Given the description of an element on the screen output the (x, y) to click on. 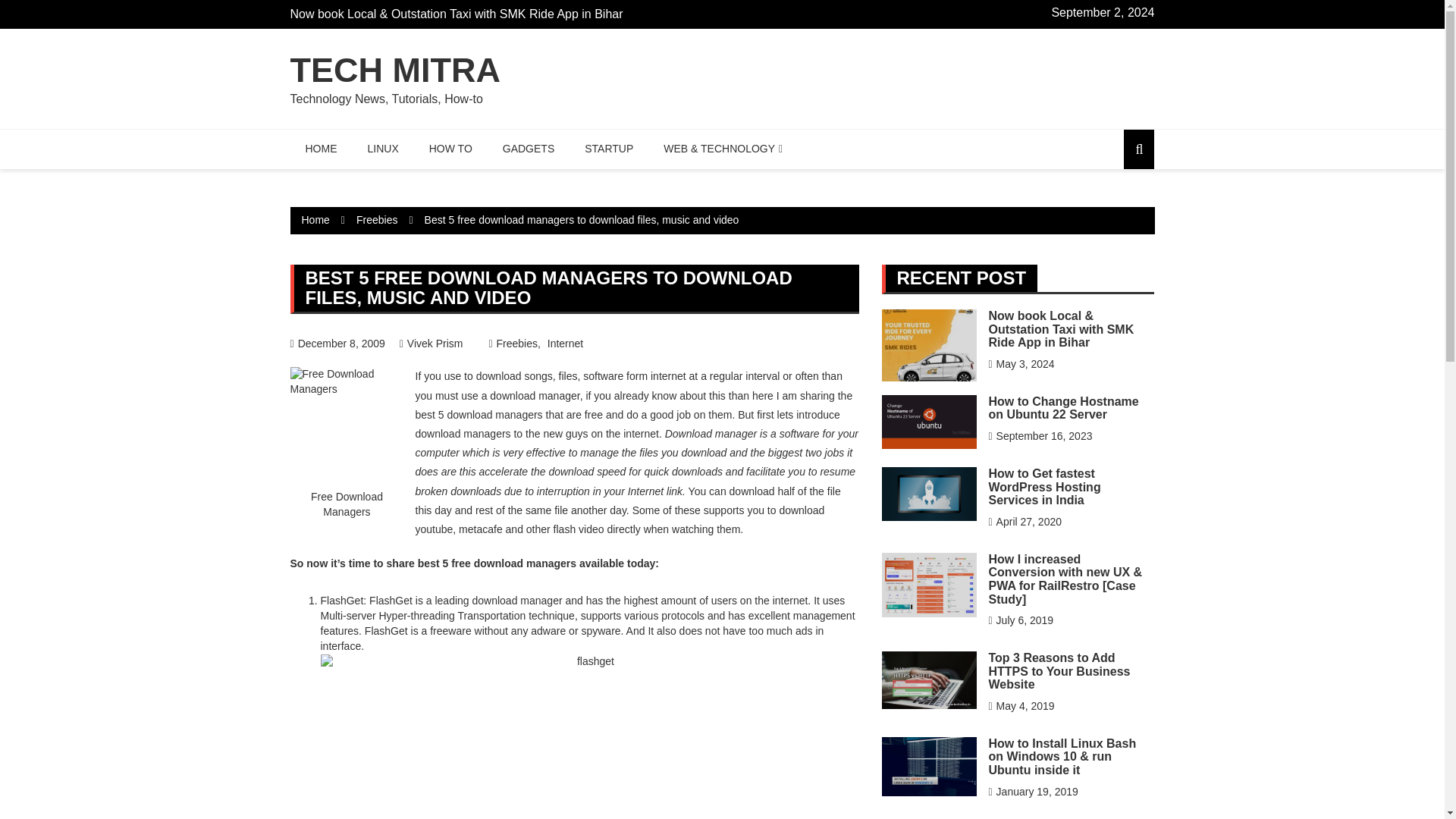
Freebies (376, 219)
HOME (320, 148)
Internet (565, 344)
LINUX (382, 148)
HOW TO (450, 148)
STARTUP (608, 148)
December 8, 2009 (336, 343)
Home (315, 219)
Click to Download (341, 600)
flashget (589, 736)
